Given the description of an element on the screen output the (x, y) to click on. 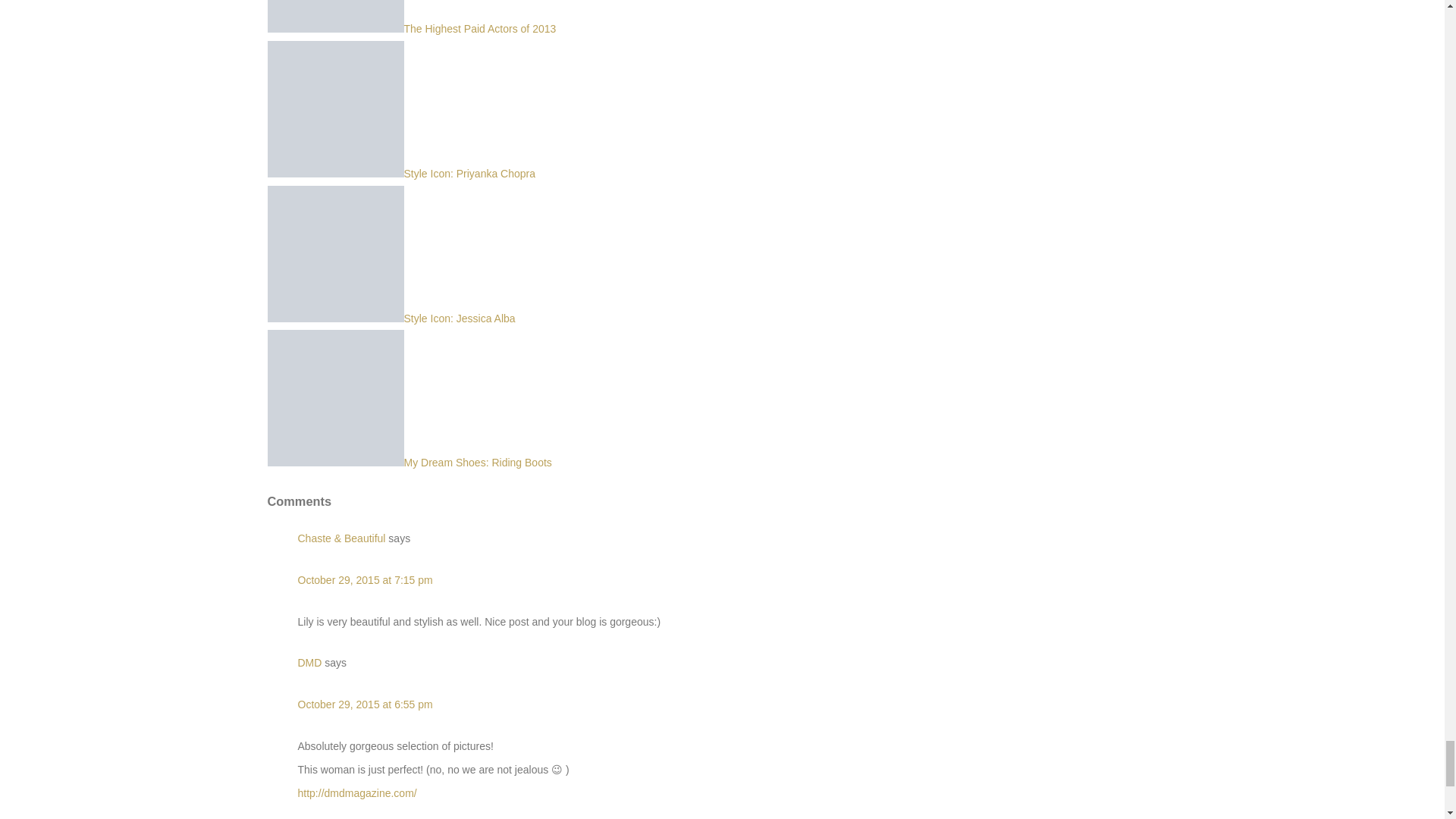
The Highest Paid Actors of 2013 (411, 28)
Style Icon: Priyanka Chopra (400, 173)
My Dream Shoes: Riding Boots (408, 462)
Style Icon: Jessica Alba (390, 318)
